Given the description of an element on the screen output the (x, y) to click on. 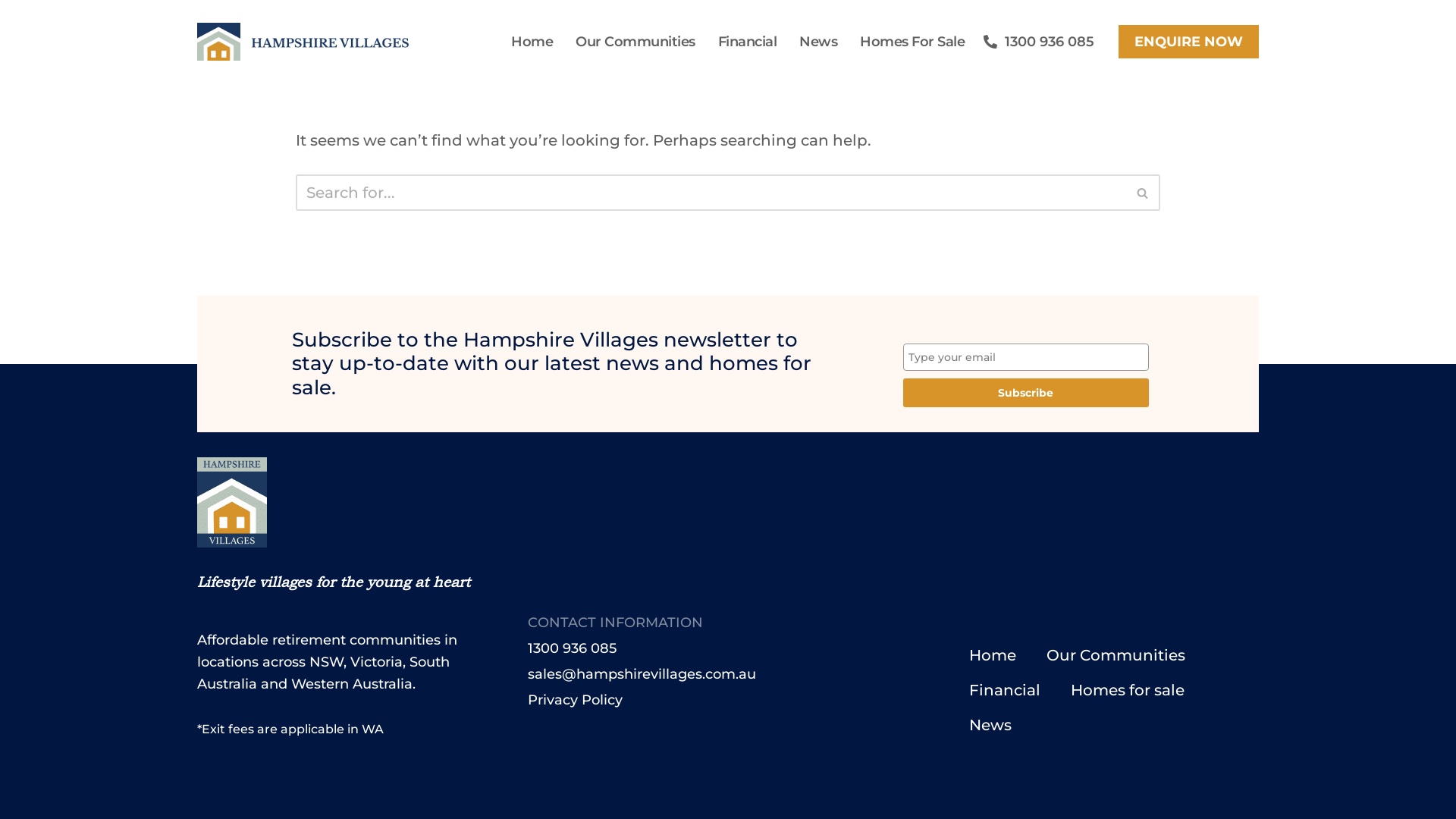
Our Communities Element type: text (635, 41)
Home Element type: text (992, 654)
1300 936 085 Element type: text (1038, 41)
1300 936 085 Element type: text (710, 648)
Privacy Policy Element type: text (710, 699)
Financial Element type: text (747, 41)
Homes For Sale Element type: text (911, 41)
Subscribe Element type: text (1025, 392)
Homes for sale Element type: text (1127, 688)
sales@hampshirevillages.com.au Element type: text (710, 673)
News Element type: text (989, 723)
News Element type: text (817, 41)
ENQUIRE NOW Element type: text (1188, 41)
Financial Element type: text (1004, 688)
Home Element type: text (531, 41)
Skip to content Element type: text (11, 31)
Our Communities Element type: text (1115, 654)
